Given the description of an element on the screen output the (x, y) to click on. 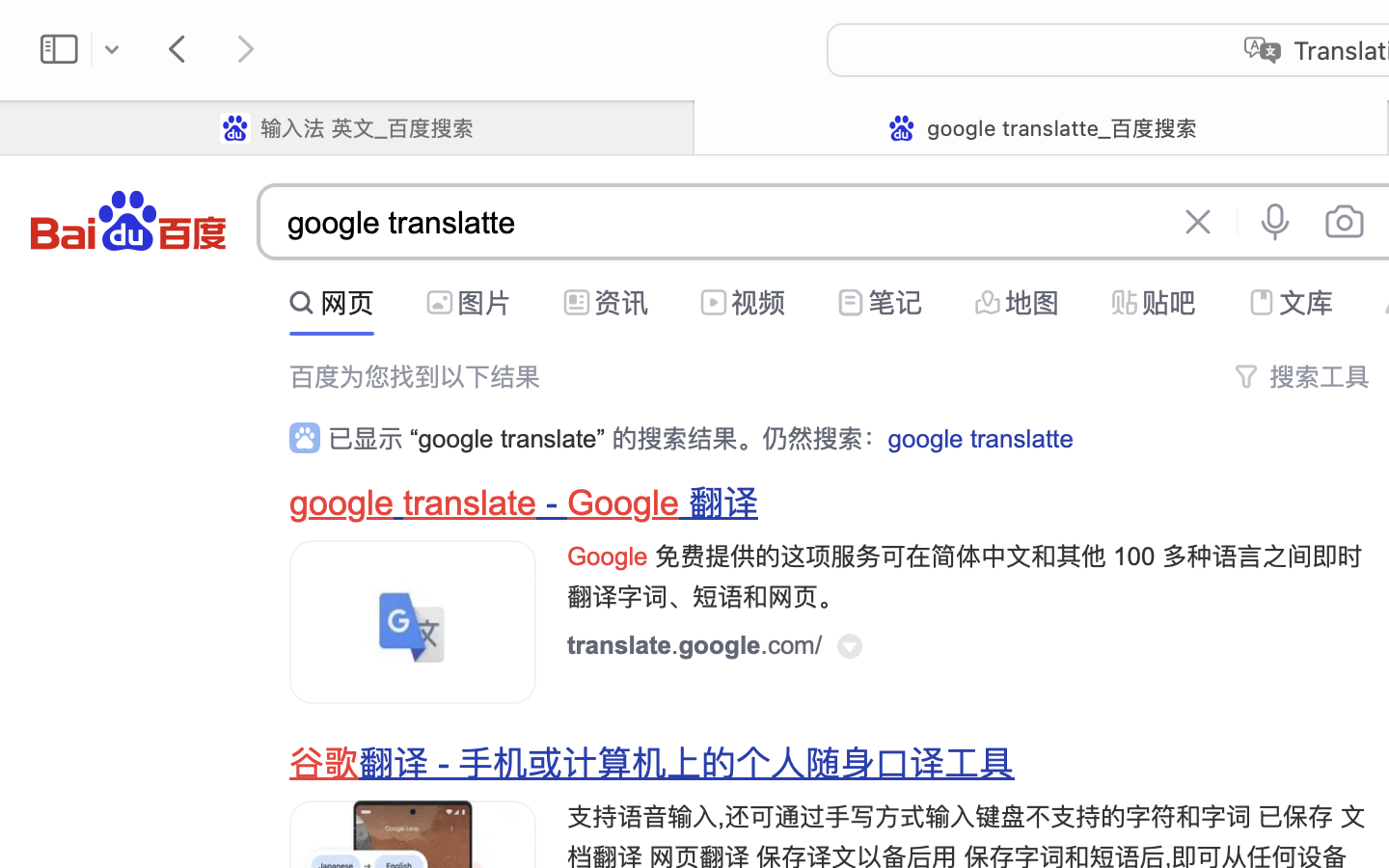
 Element type: AXStaticText (304, 437)
收起工具 Element type: AXStaticText (1319, 297)
 Element type: AXStaticText (439, 302)
 Element type: AXStaticText (1124, 302)
翻译 Element type: AXStaticText (719, 503)
